Given the description of an element on the screen output the (x, y) to click on. 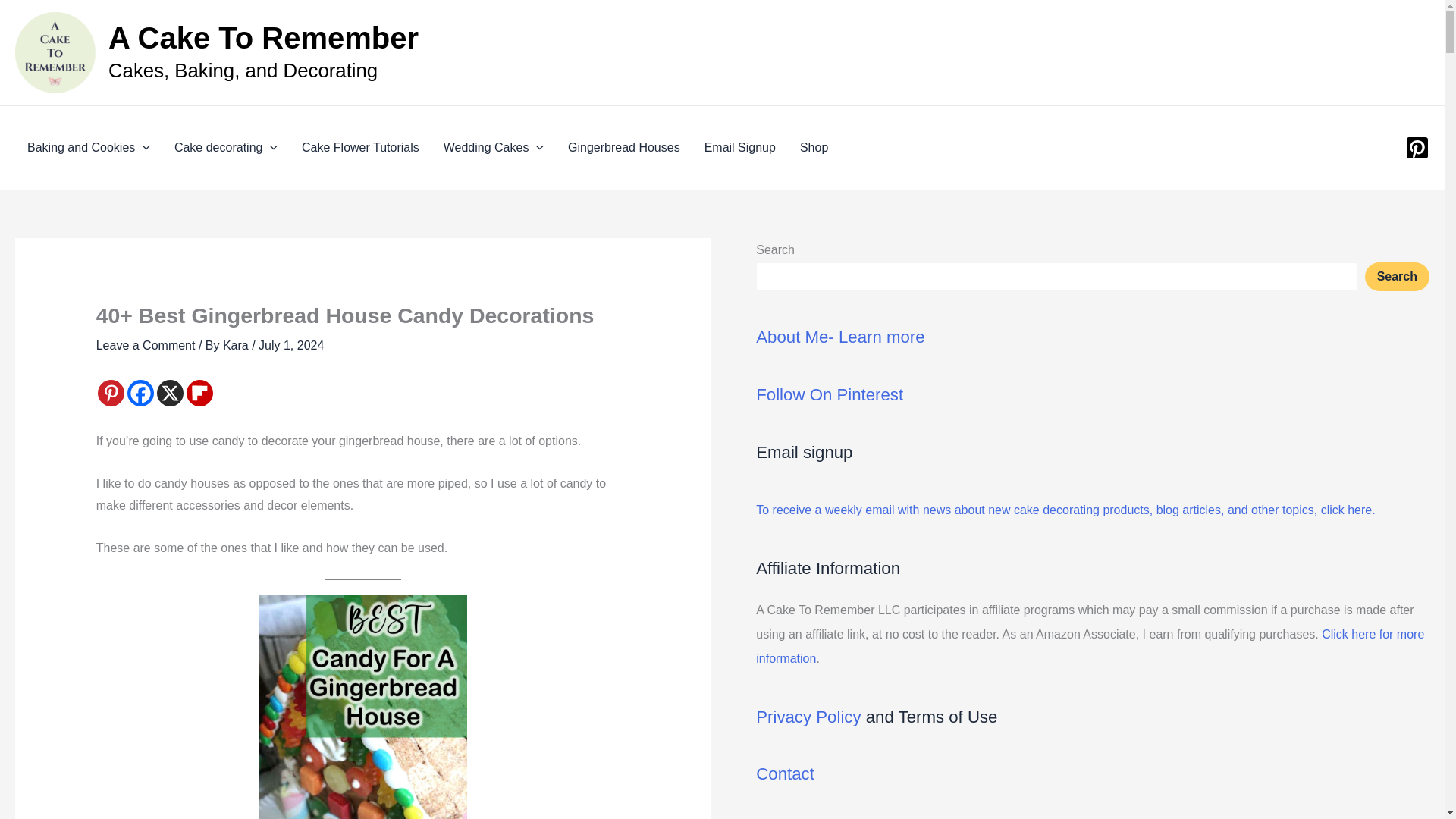
Gingerbread Houses (624, 147)
Baking and Cookies (87, 147)
Cake decorating (225, 147)
View all posts by Kara (236, 345)
A Cake To Remember (263, 37)
Flipboard (199, 393)
Pinterest (110, 393)
Facebook (141, 393)
Wedding Cakes (493, 147)
X (170, 393)
